Given the description of an element on the screen output the (x, y) to click on. 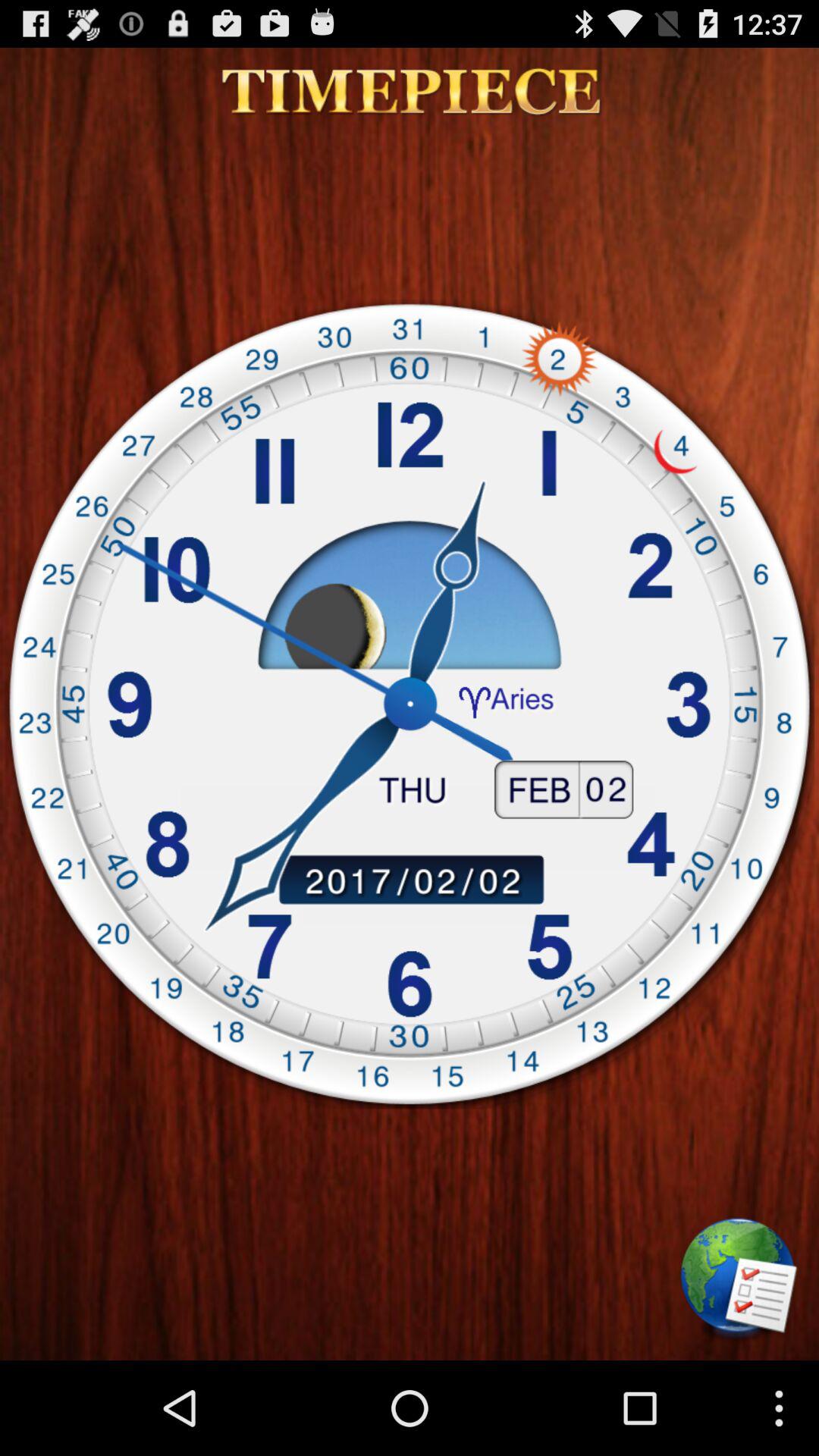
press the icon at the bottom right corner (739, 1280)
